Given the description of an element on the screen output the (x, y) to click on. 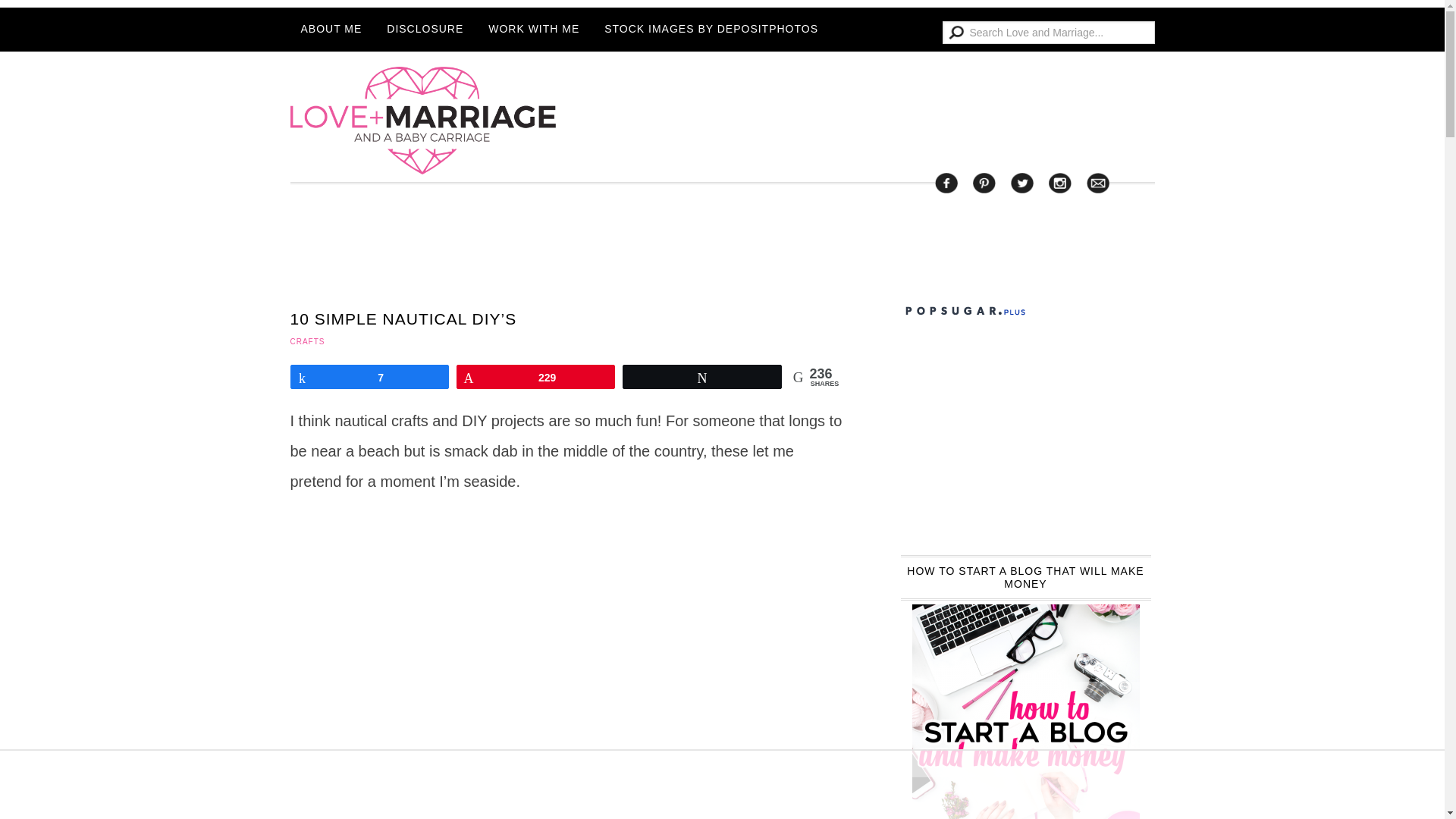
LOVE AND MARRIAGE (421, 120)
229 (535, 376)
WORK WITH ME (533, 29)
DISCLOSURE (424, 29)
CRAFTS (306, 341)
ABOUT ME (330, 29)
How To Start A Blog That Will Make Money (1026, 711)
7 (369, 376)
STOCK IMAGES BY DEPOSITPHOTOS (711, 29)
